Given the description of an element on the screen output the (x, y) to click on. 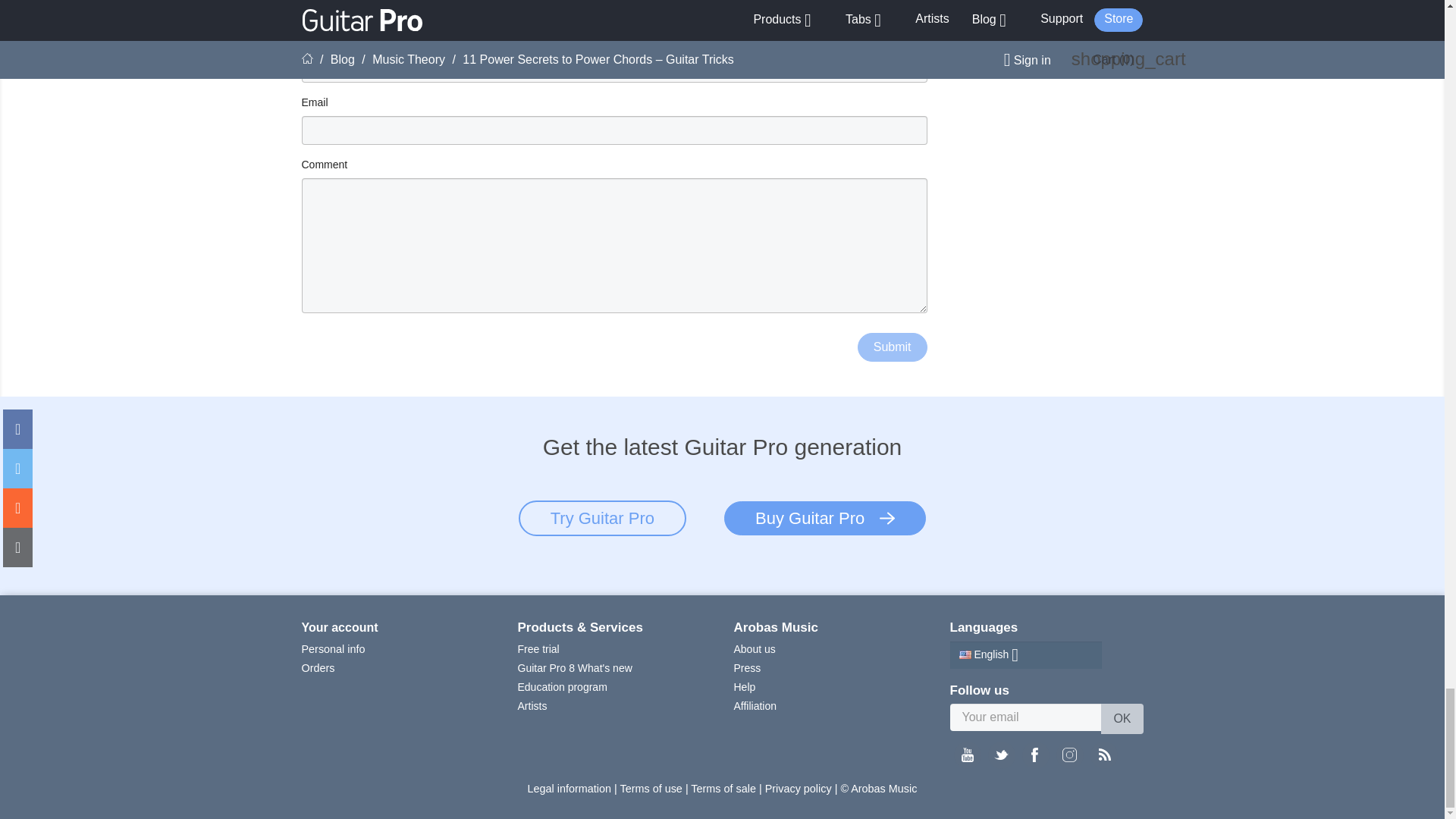
Artists (531, 705)
About us (754, 648)
Ok (1121, 718)
Guitar Pro 8 What's new (573, 667)
Help (744, 686)
Affiliation (755, 705)
Free trial (537, 648)
Arobas Music (775, 626)
Education program (561, 686)
Press (747, 667)
